Given the description of an element on the screen output the (x, y) to click on. 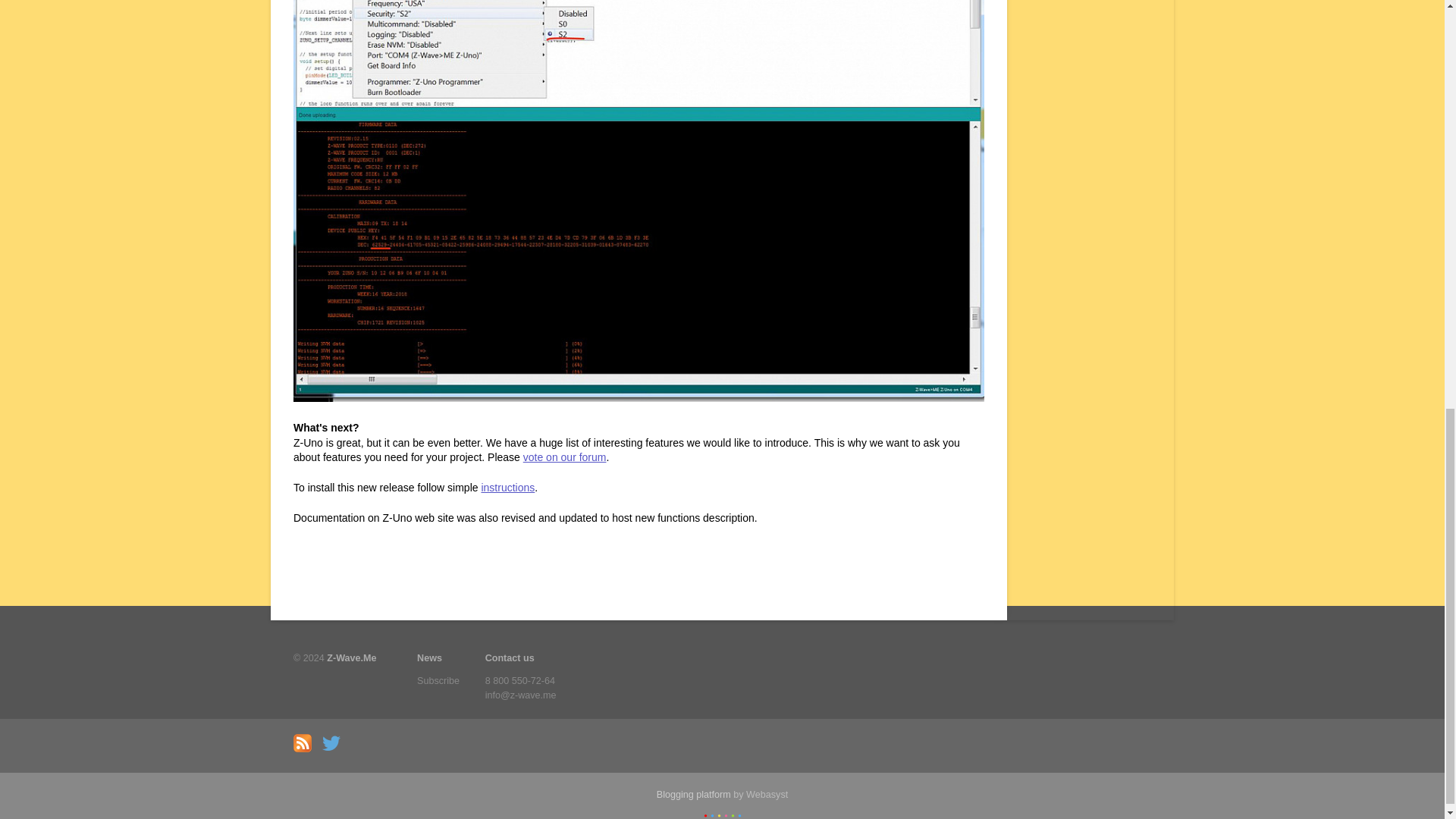
News (438, 658)
Subscribe (438, 681)
Twitter (334, 748)
Blogging platform (693, 794)
instructions (507, 487)
Contact us (520, 658)
vote on our forum (564, 457)
Z-Wave.Me (350, 657)
RSS (306, 748)
